Given the description of an element on the screen output the (x, y) to click on. 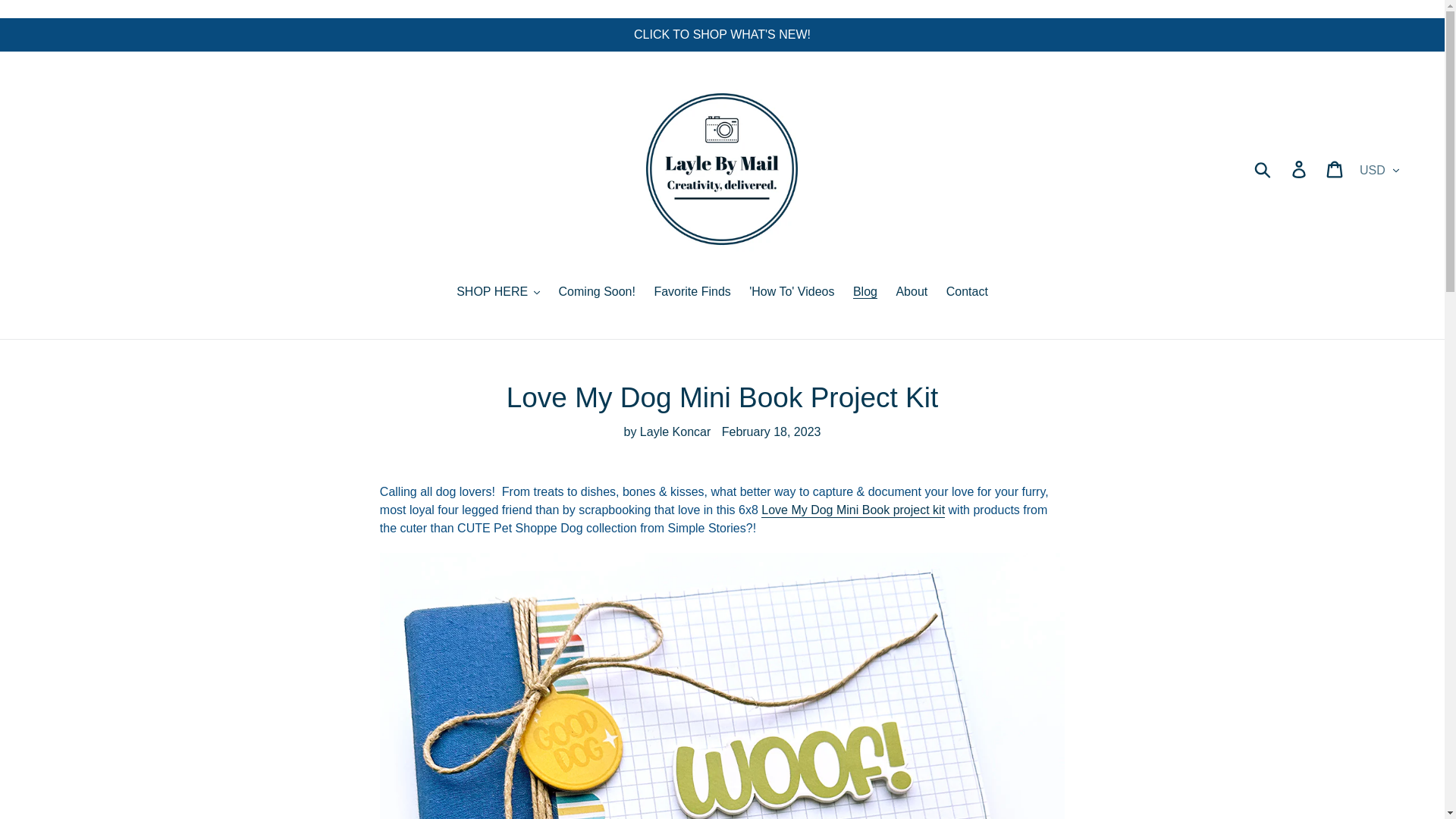
Cart (1335, 168)
Submit (1263, 168)
Log in (1299, 168)
